Given the description of an element on the screen output the (x, y) to click on. 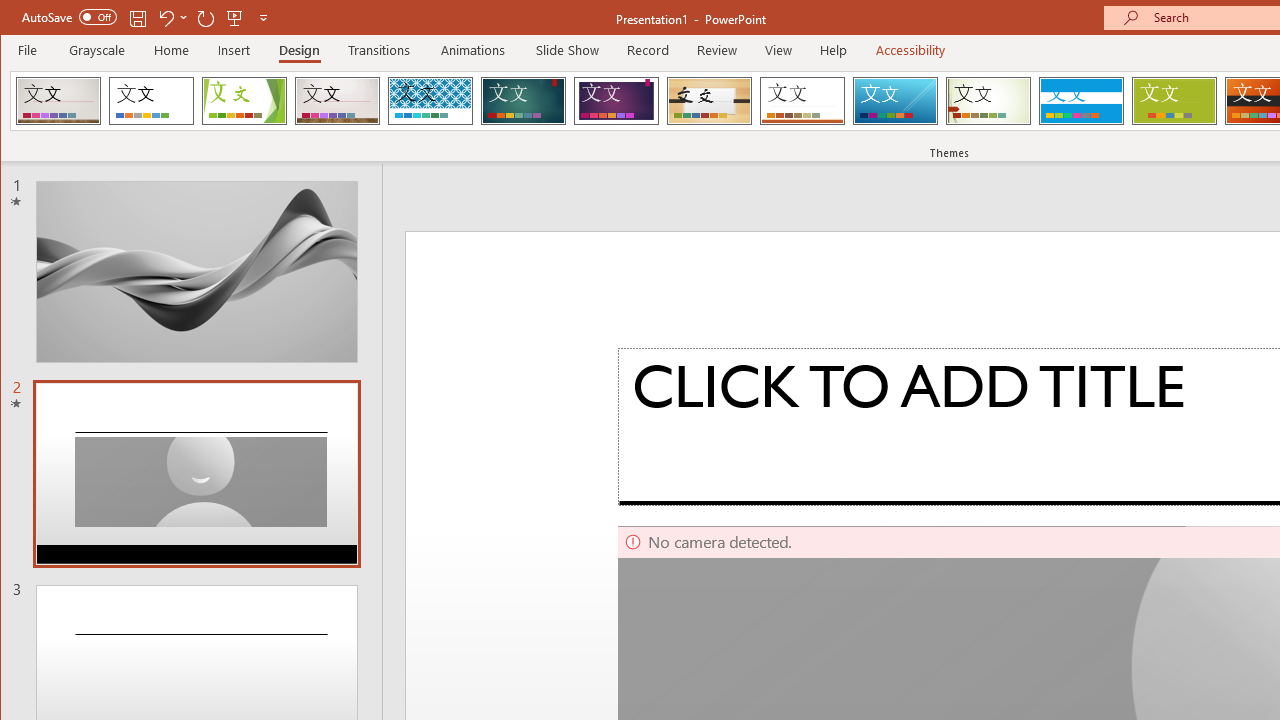
Organic (709, 100)
Wisp (988, 100)
Berlin (57, 100)
Gallery (337, 100)
Retrospect (802, 100)
Banded (1081, 100)
